Given the description of an element on the screen output the (x, y) to click on. 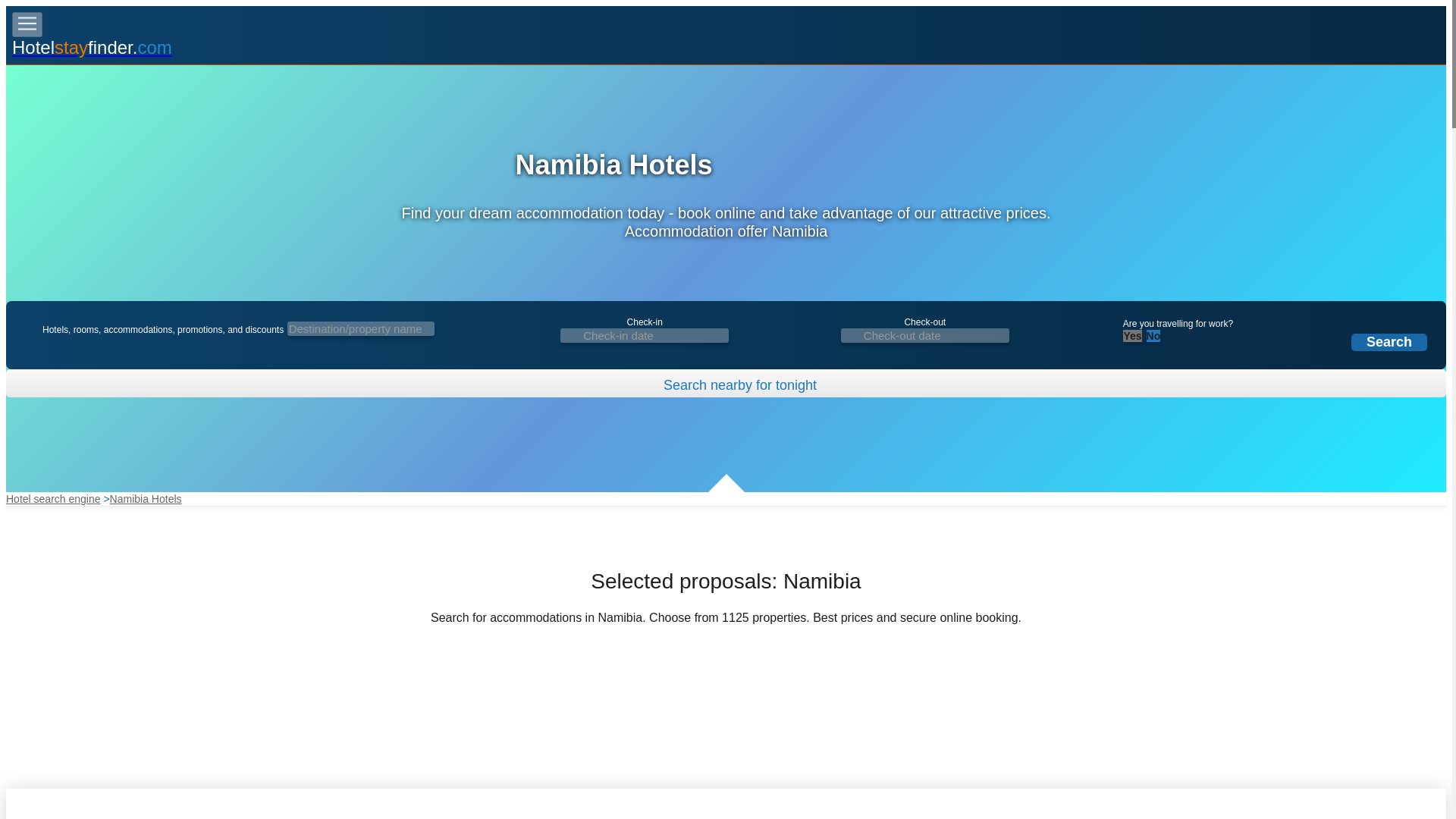
business (1131, 337)
Namibia Hotels (146, 499)
leisure (1155, 337)
Search (1388, 342)
Mariental Hotel Cc (725, 803)
Hotel search engine (52, 499)
